Given the description of an element on the screen output the (x, y) to click on. 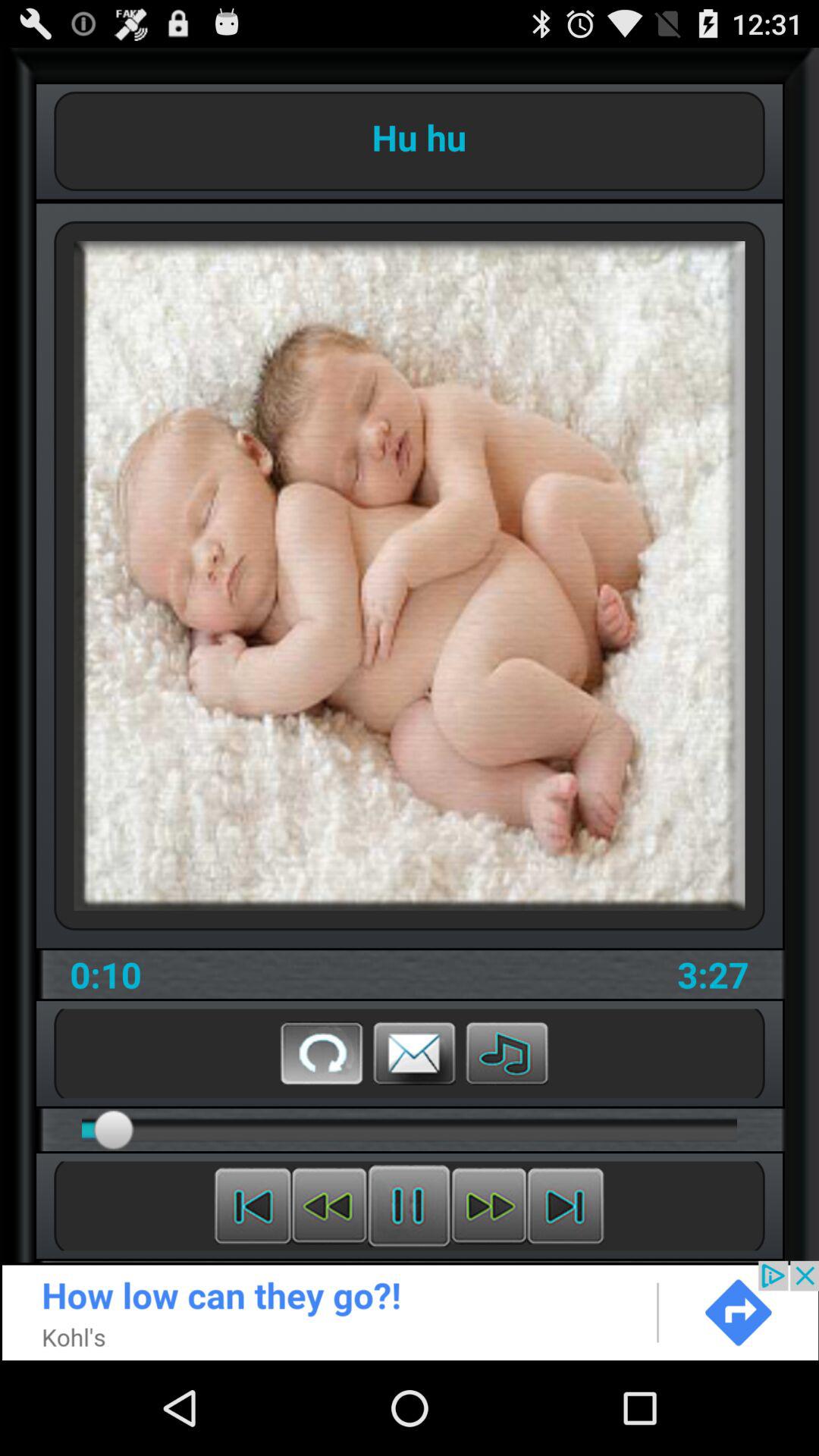
pause (408, 1205)
